Given the description of an element on the screen output the (x, y) to click on. 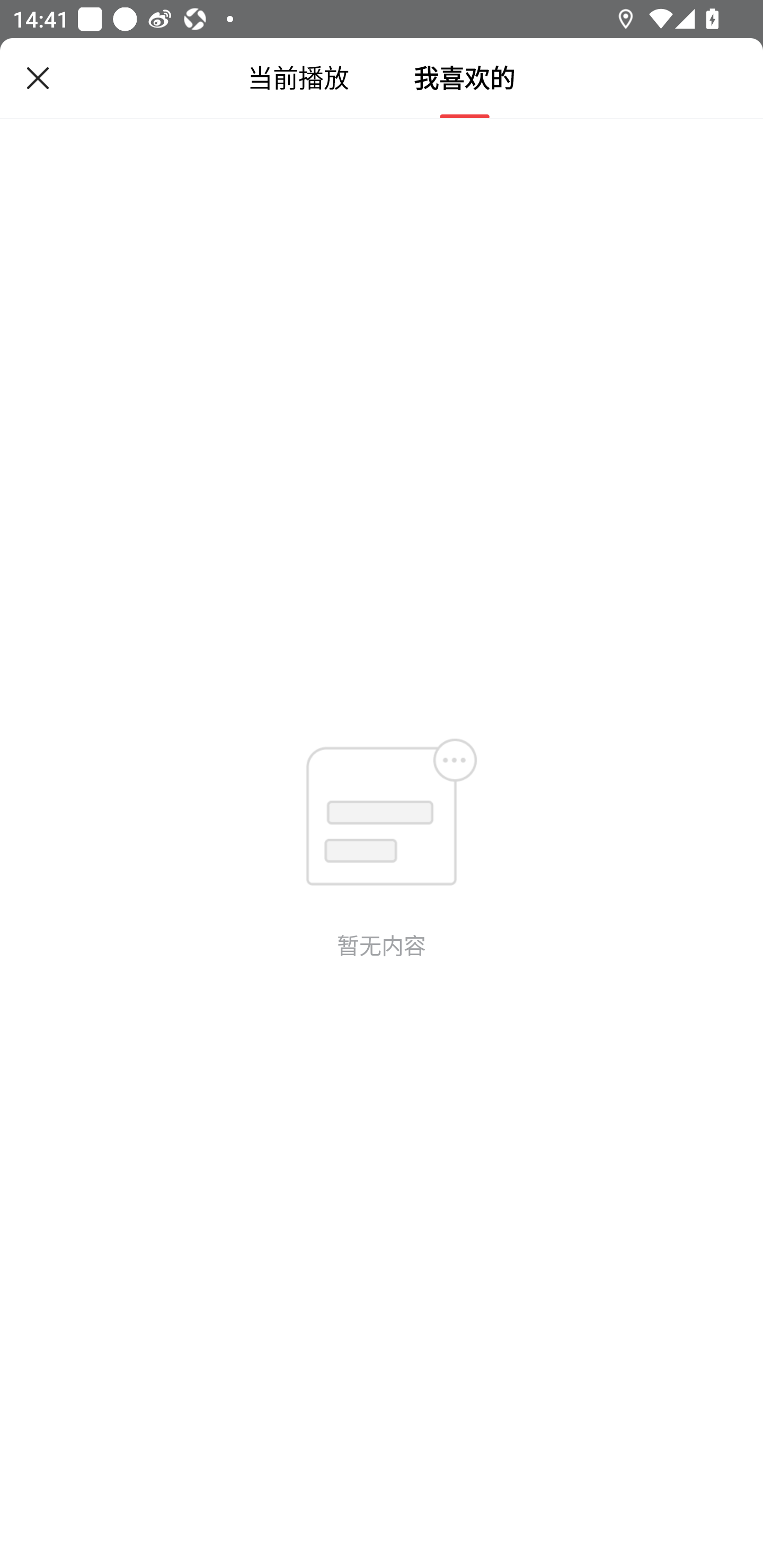
当前播放 (298, 78)
我喜欢的 (464, 78)
关闭列表 (38, 78)
